Given the description of an element on the screen output the (x, y) to click on. 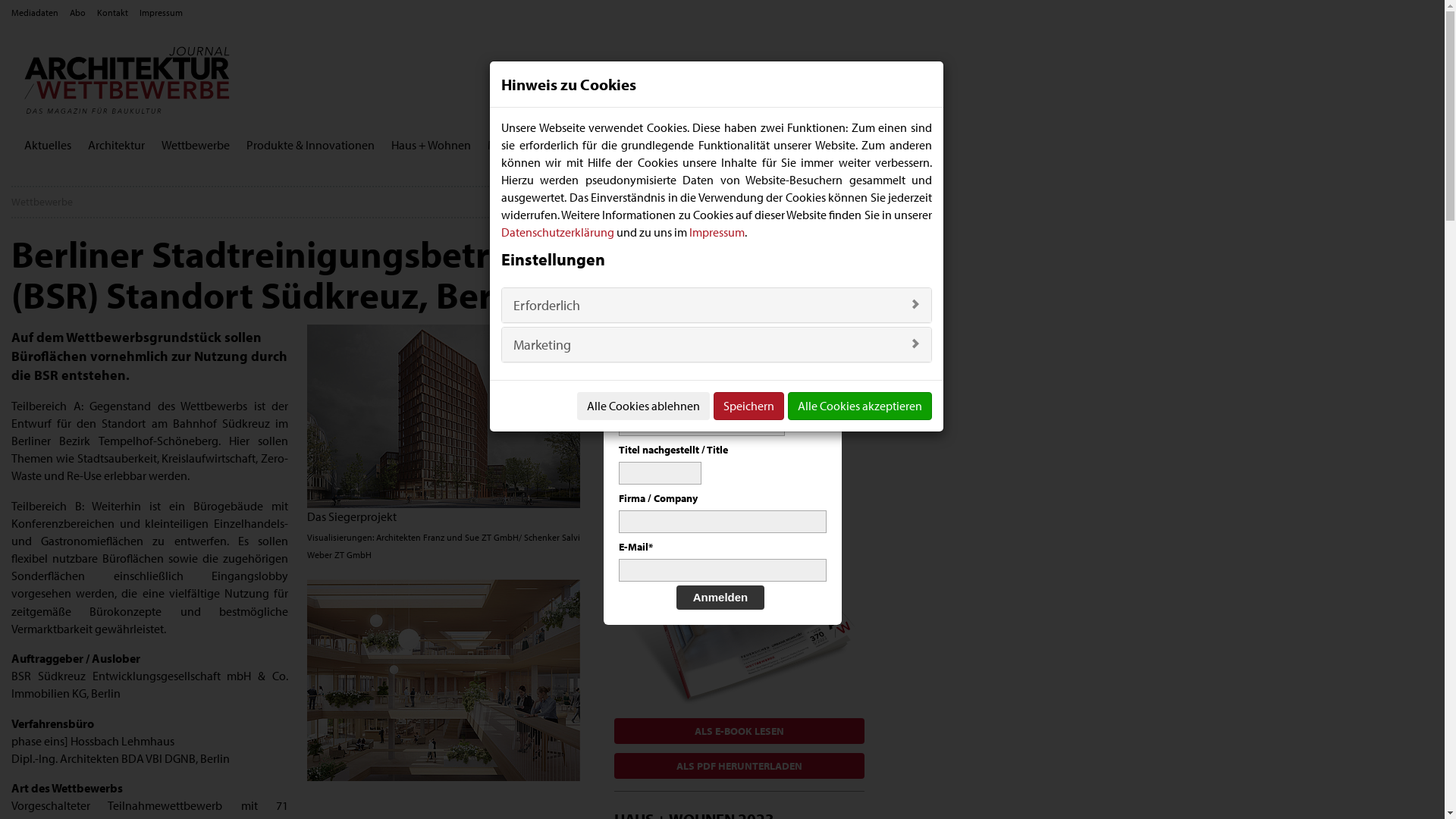
Alle Cookies ablehnen Element type: text (643, 406)
Impressum Element type: text (716, 231)
Mediadaten Element type: text (34, 12)
Anleitung Element type: text (822, 354)
Magazin-Archiv Element type: text (527, 146)
Haus + Wohnen Element type: text (430, 146)
Produkte & Innovationen Element type: text (310, 146)
Impressum Element type: text (160, 12)
BESTELLEN SIE HIER EIN PROBEABONNEMENT Element type: text (739, 237)
Architektur Element type: text (116, 146)
AKTUELLE AUSGABE Element type: text (678, 437)
ALS E-BOOK LESEN Element type: text (739, 730)
Speichern Element type: text (748, 406)
Marketing Element type: text (542, 344)
ALS PDF HERUNTERLADEN Element type: text (739, 765)
Der Markt Element type: text (609, 146)
Erforderlich Element type: text (546, 304)
Kontakt Element type: text (112, 12)
Anmelden Element type: text (720, 597)
Abo Element type: text (77, 12)
Wettbewerbe Element type: text (195, 146)
Alle Cookies akzeptieren Element type: text (859, 406)
Aktuelles Element type: text (47, 146)
